Given the description of an element on the screen output the (x, y) to click on. 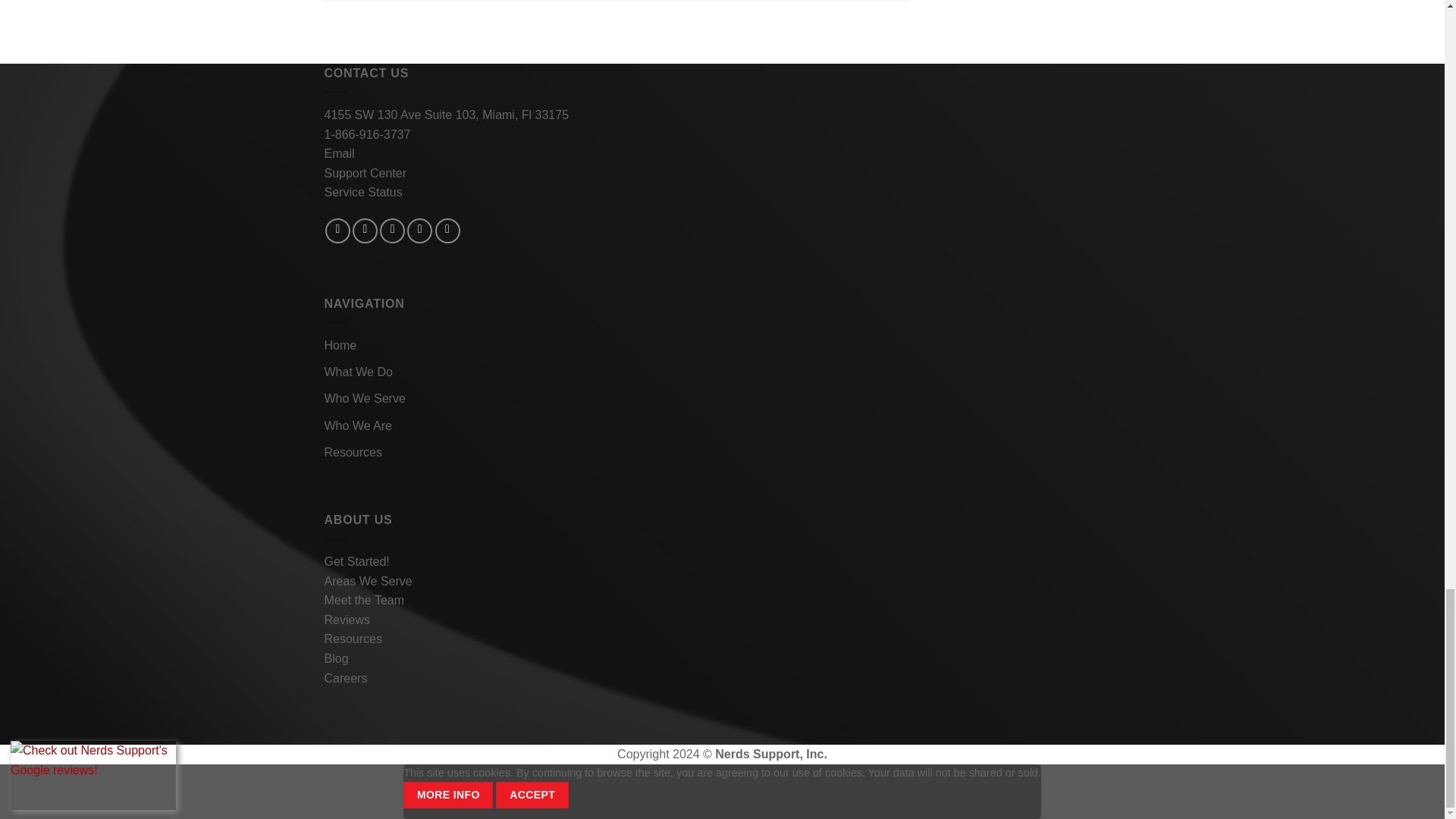
Follow on Instagram (364, 230)
Follow on Facebook (337, 230)
